Given the description of an element on the screen output the (x, y) to click on. 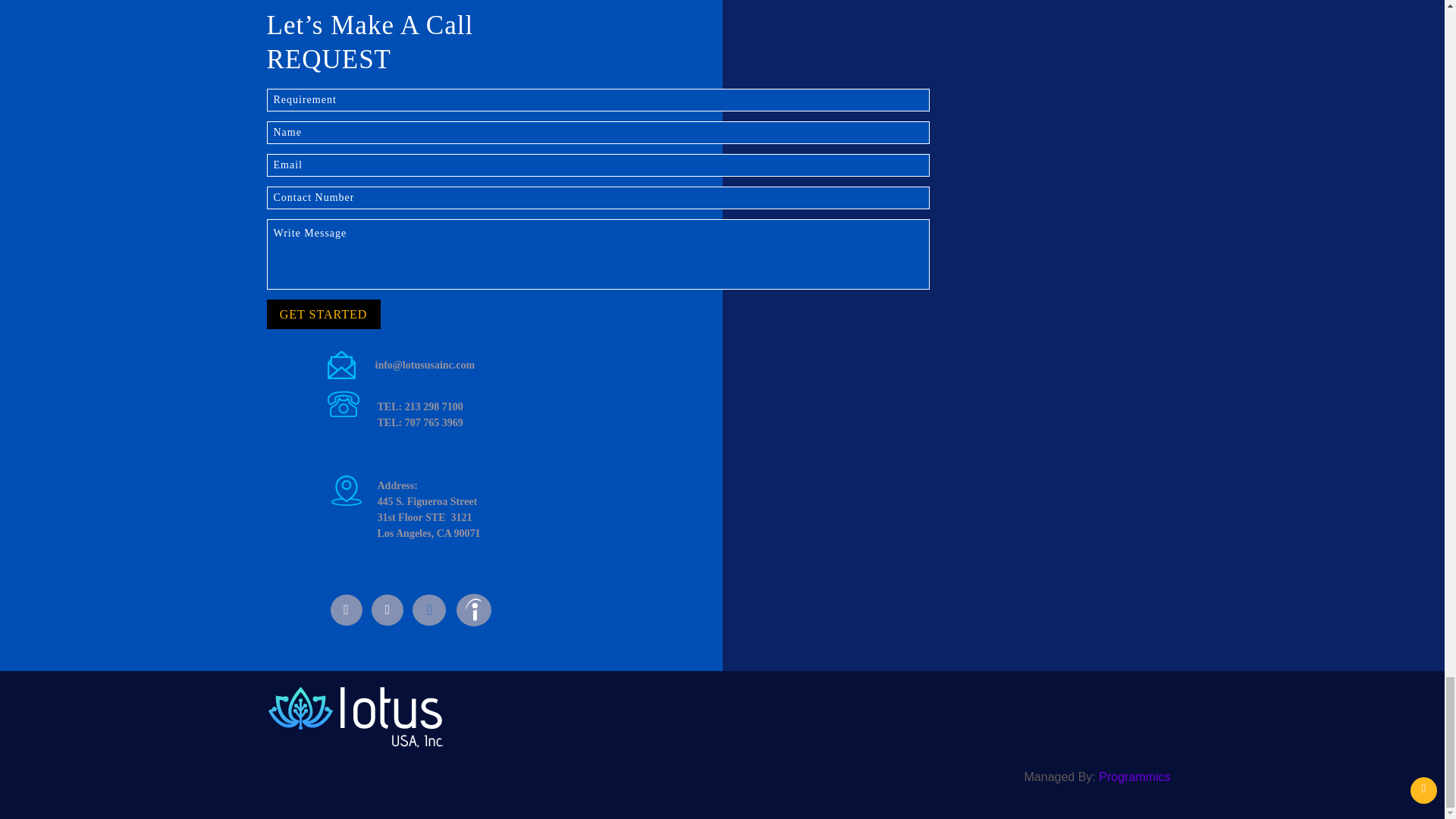
Default Label (428, 609)
Twitter (387, 609)
Get Started (323, 314)
Facebook (346, 609)
